Given the description of an element on the screen output the (x, y) to click on. 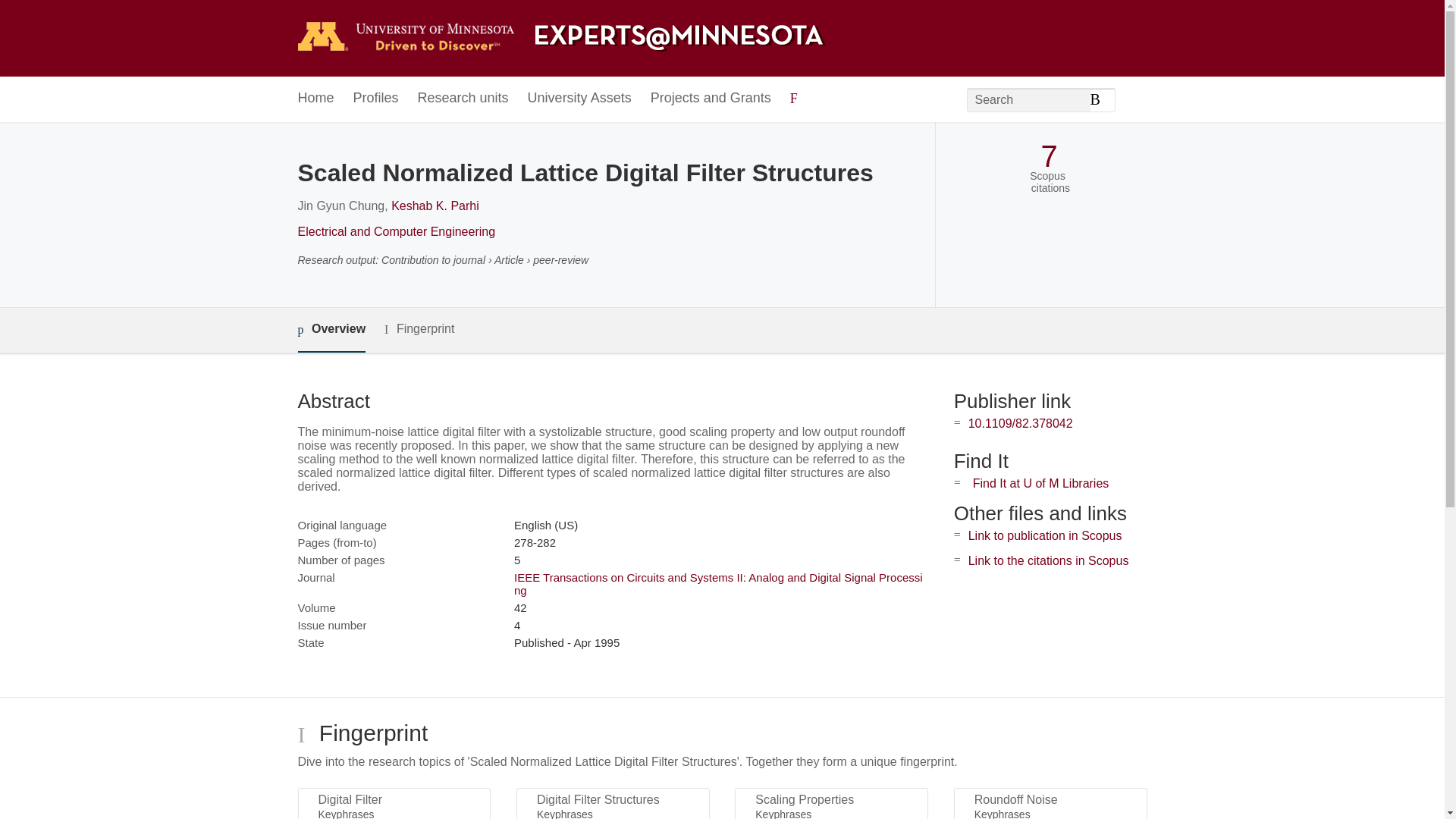
Overview (331, 329)
Research units (462, 98)
Fingerprint (419, 329)
Link to the citations in Scopus (1048, 560)
Projects and Grants (710, 98)
Keshab K. Parhi (435, 205)
Link to publication in Scopus (1045, 535)
Profiles (375, 98)
University Assets (579, 98)
Find It at U of M Libraries (1040, 482)
Electrical and Computer Engineering (396, 231)
